Given the description of an element on the screen output the (x, y) to click on. 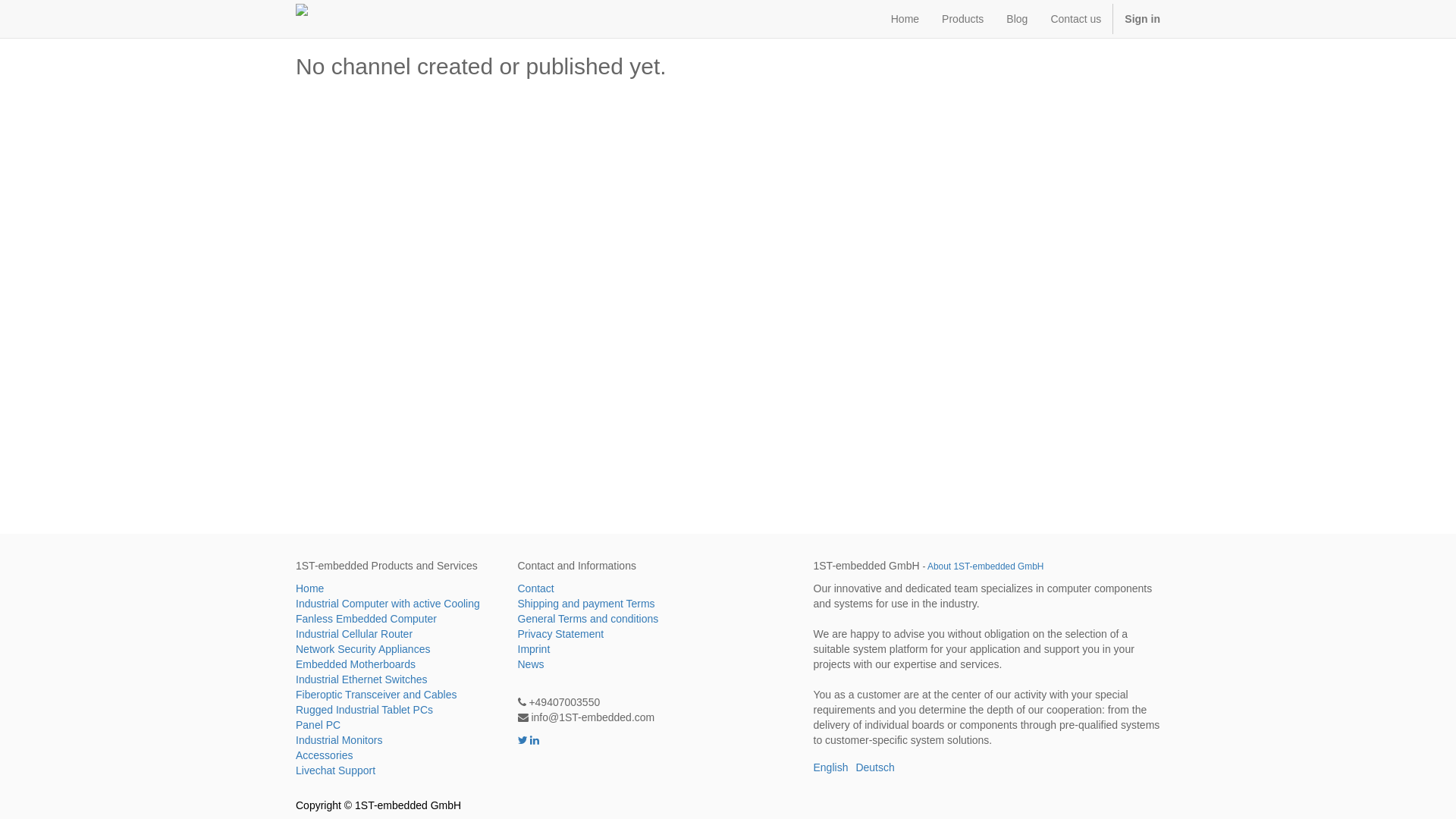
Embedded Motherboards Element type: text (395, 663)
Shipping and payment Terms Element type: text (616, 603)
Privacy Statement Element type: text (616, 633)
Sign in Element type: text (1142, 18)
Industrial Cellular Router Element type: text (395, 633)
Contact Element type: text (616, 588)
Industrial Computer with active Cooling Element type: text (395, 603)
General Terms and conditions Element type: text (616, 618)
Fiberoptic Transceiver and Cables Element type: text (395, 694)
Contact us Element type: text (1075, 18)
Products Element type: text (962, 18)
News Element type: text (616, 663)
Deutsch Element type: text (874, 767)
1ST-embedded GmbH Element type: hover (301, 18)
Panel PC Element type: text (395, 724)
Accessories Element type: text (395, 754)
About 1ST-embedded GmbH Element type: text (985, 566)
Home Element type: text (395, 588)
Rugged Industrial Tablet PCs Element type: text (395, 709)
Fanless Embedded Computer Element type: text (395, 618)
Industrial Monitors Element type: text (395, 739)
Imprint Element type: text (616, 648)
Industrial Ethernet Switches Element type: text (395, 679)
Network Security Appliances Element type: text (395, 648)
Blog Element type: text (1016, 18)
English Element type: text (829, 767)
Home Element type: text (904, 18)
Livechat Support Element type: text (395, 770)
